Given the description of an element on the screen output the (x, y) to click on. 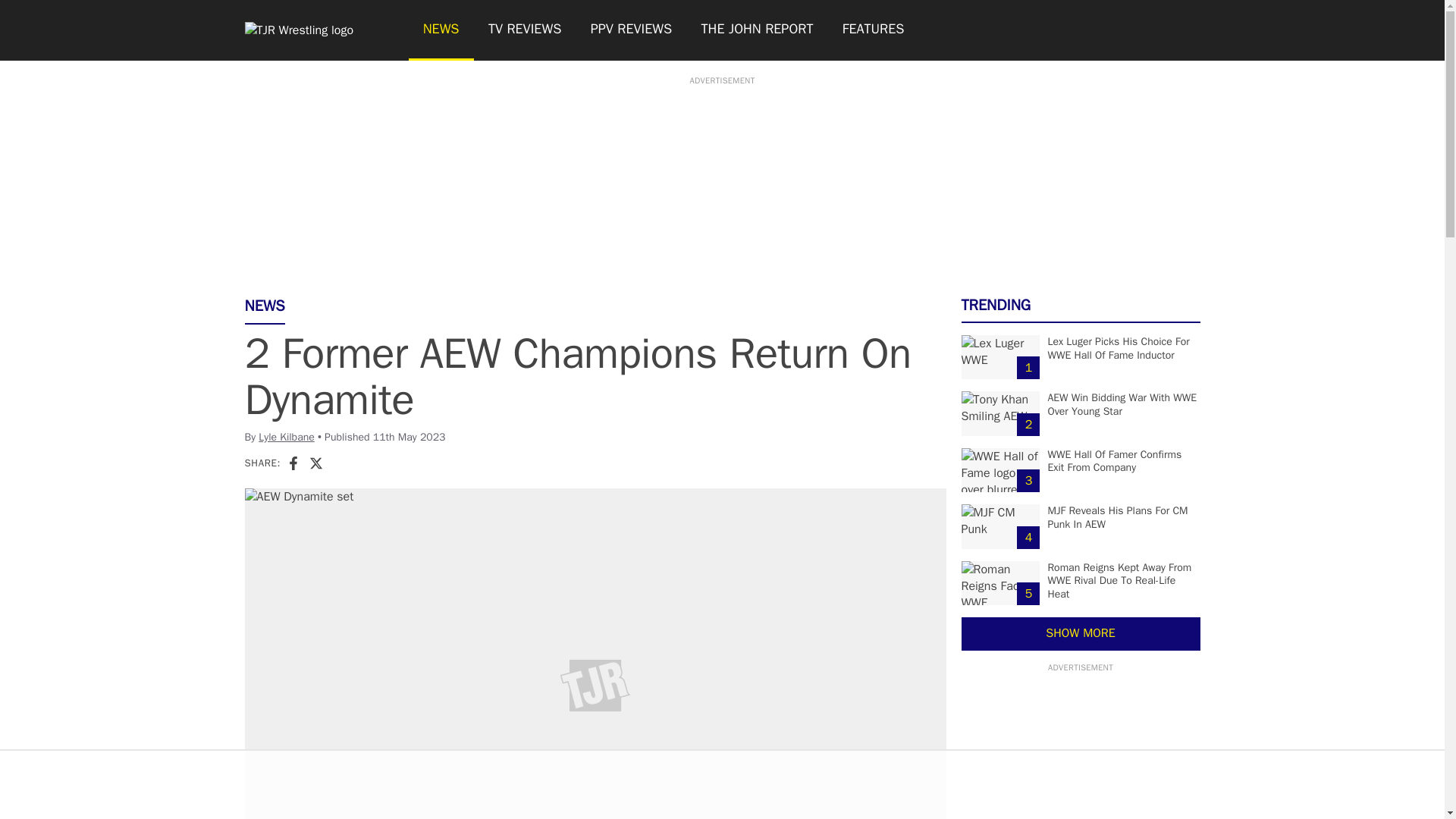
NEWS (440, 30)
Lyle Kilbane (286, 436)
Facebook (292, 462)
Facebook (292, 463)
FEATURES (873, 30)
X (315, 463)
X (315, 462)
PPV REVIEWS (631, 30)
TV REVIEWS (525, 30)
THE JOHN REPORT (756, 30)
